Given the description of an element on the screen output the (x, y) to click on. 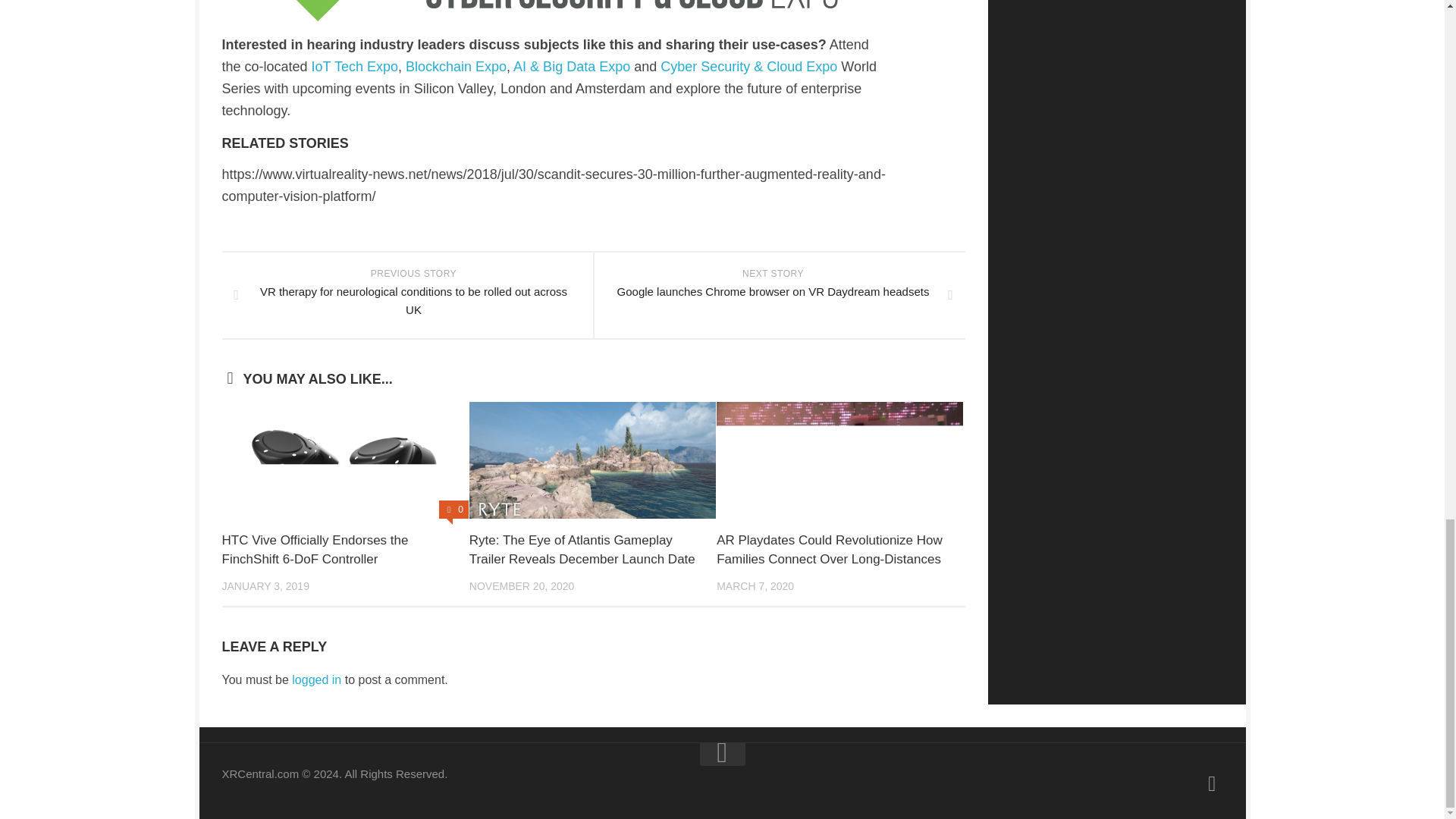
logged in (316, 679)
IoT Tech Expo (354, 66)
Blockchain Expo (456, 66)
0 (453, 509)
HTC Vive Officially Endorses the FinchShift 6-DoF Controller (314, 550)
Twitter (1212, 783)
